Given the description of an element on the screen output the (x, y) to click on. 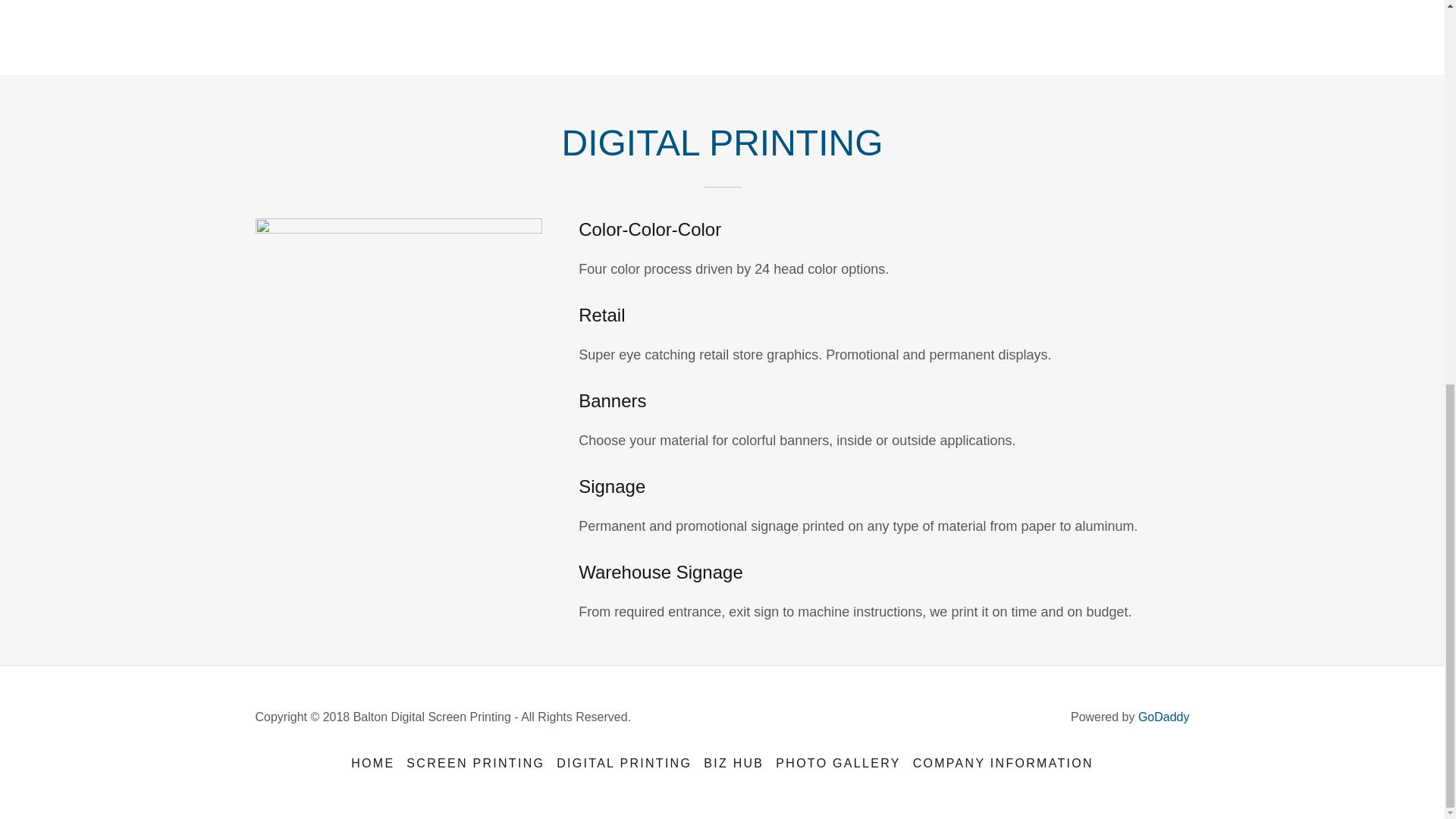
DIGITAL PRINTING (623, 763)
SCREEN PRINTING (475, 763)
HOME (372, 763)
PHOTO GALLERY (837, 763)
COMPANY INFORMATION (1003, 763)
BIZ HUB (733, 763)
GoDaddy (1163, 716)
